Given the description of an element on the screen output the (x, y) to click on. 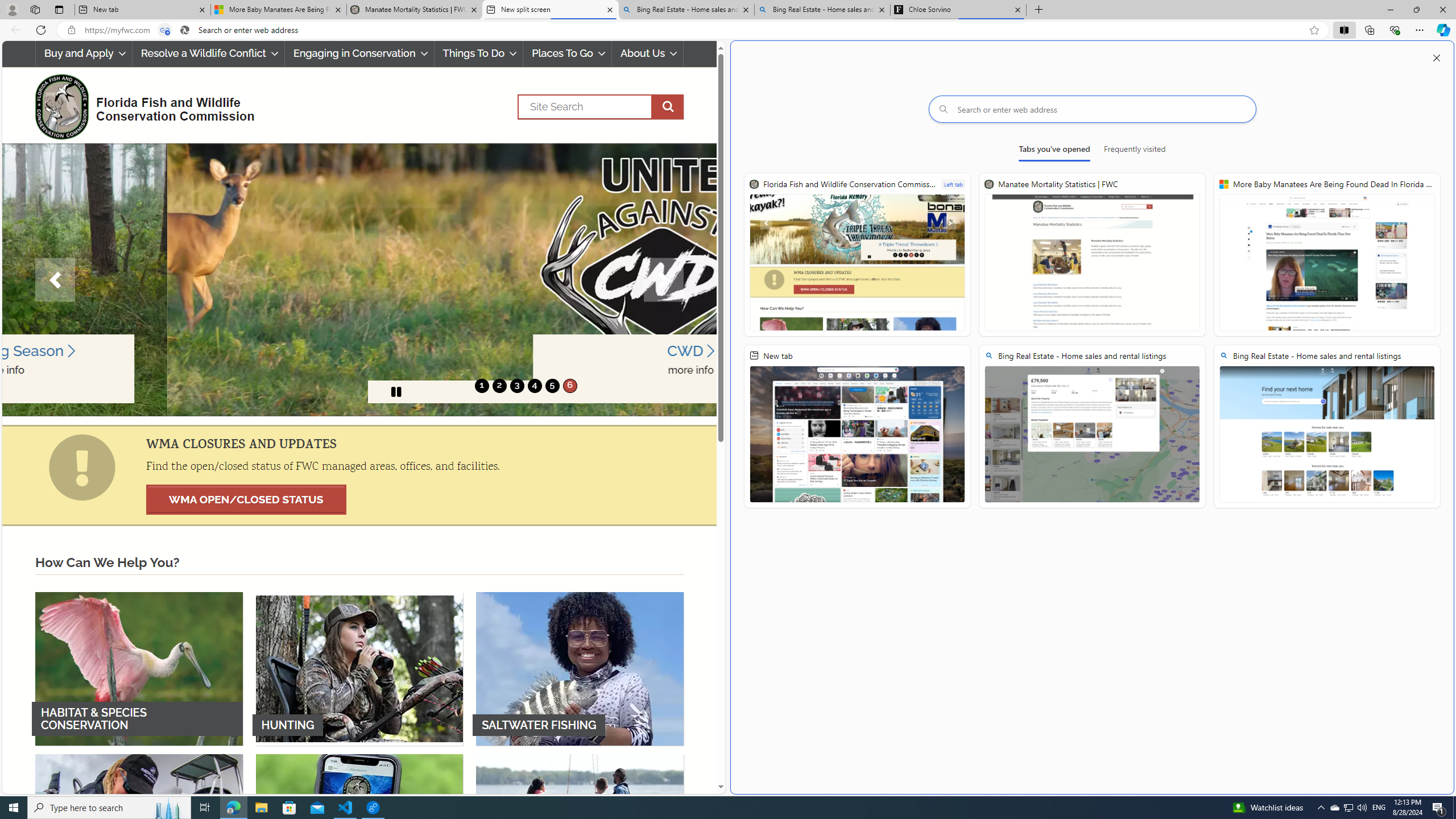
Manatee Mortality Statistics | FWC (414, 9)
WMA OPEN/CLOSED STATUS (245, 499)
